Given the description of an element on the screen output the (x, y) to click on. 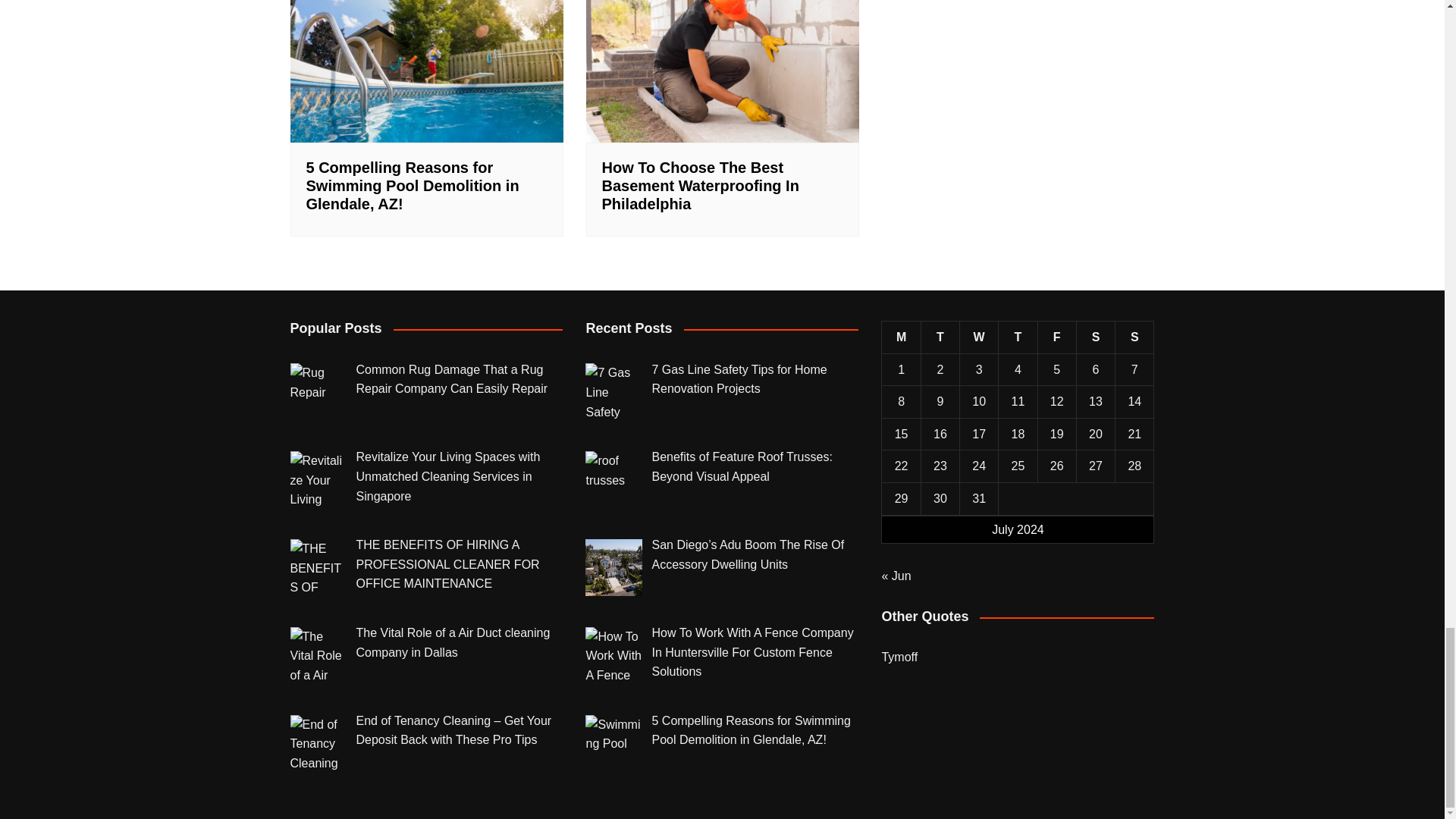
Swimming Pool (425, 71)
